Given the description of an element on the screen output the (x, y) to click on. 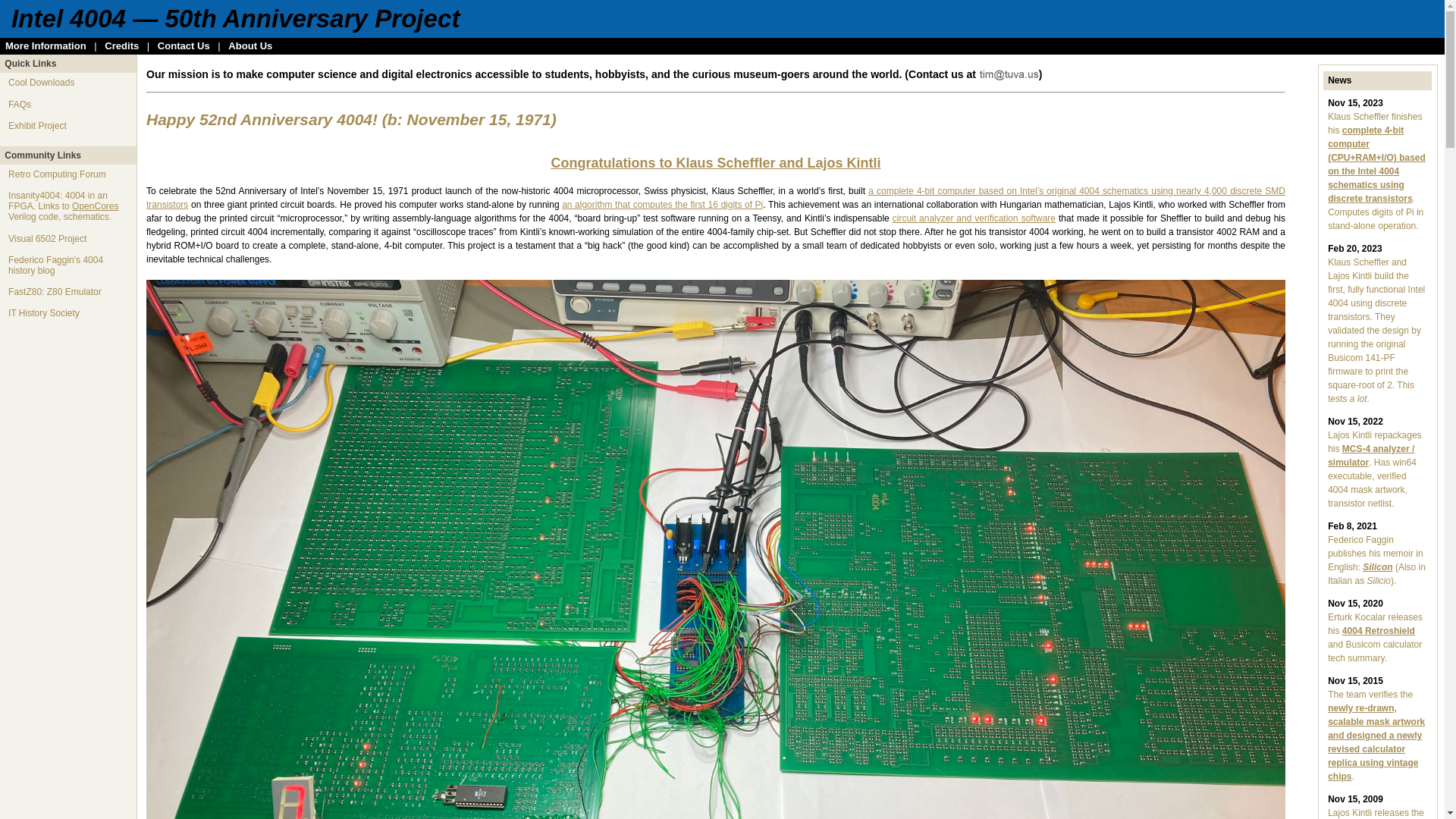
Credits Element type: text (121, 45)
Exhibit Project Element type: text (37, 125)
Advertisement Element type: hover (67, 560)
Silicon Element type: text (1377, 566)
Retro Computing Forum Element type: text (57, 174)
MCS-4 analyzer / simulator Element type: text (1370, 455)
OpenCores Element type: text (95, 205)
Congratulations to Klaus Scheffler and Lajos Kintli Element type: text (715, 163)
IT History Society Element type: text (43, 312)
FAQs Element type: text (19, 104)
Cool Downloads Element type: text (41, 82)
More Information Element type: text (45, 45)
About Us Element type: text (249, 45)
Contact Us Element type: text (183, 45)
Visual 6502 Project Element type: text (47, 238)
FastZ80: Z80 Emulator Element type: text (54, 291)
circuit analyzer and verification software Element type: text (973, 218)
Insanity4004: 4004 in an FPGA Element type: text (57, 200)
Federico Faggin's 4004 history blog Element type: text (55, 265)
an algorithm that computes the first 16 digits of Pi Element type: text (661, 204)
4004 Retroshield Element type: text (1378, 630)
